Given the description of an element on the screen output the (x, y) to click on. 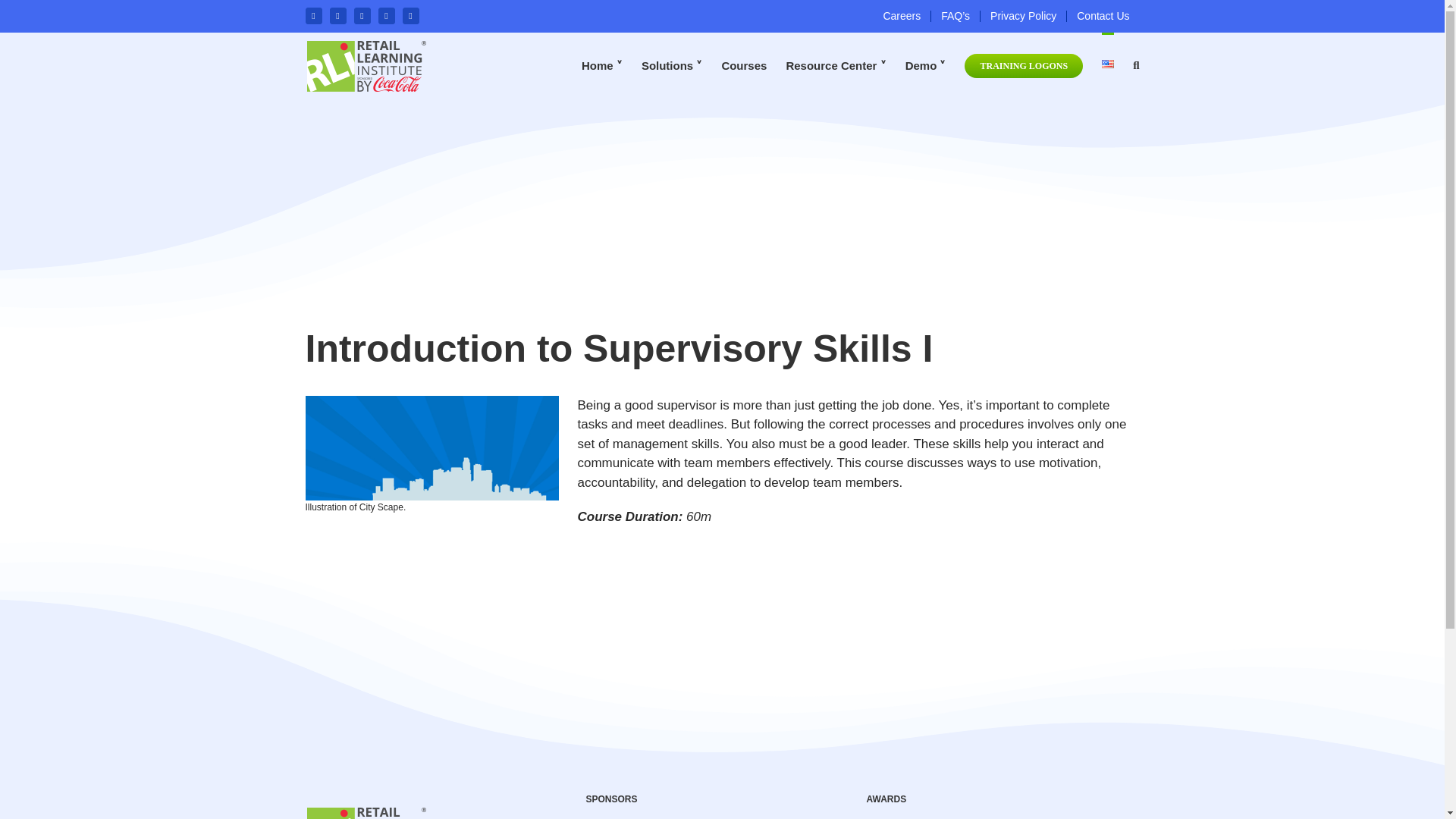
Facebook (312, 15)
LinkedIn (385, 15)
YouTube (410, 15)
Careers (901, 16)
Twitter (337, 15)
YouTube (410, 15)
Facebook (312, 15)
Contact Us (1102, 16)
Instagram (361, 15)
LinkedIn (385, 15)
